Given the description of an element on the screen output the (x, y) to click on. 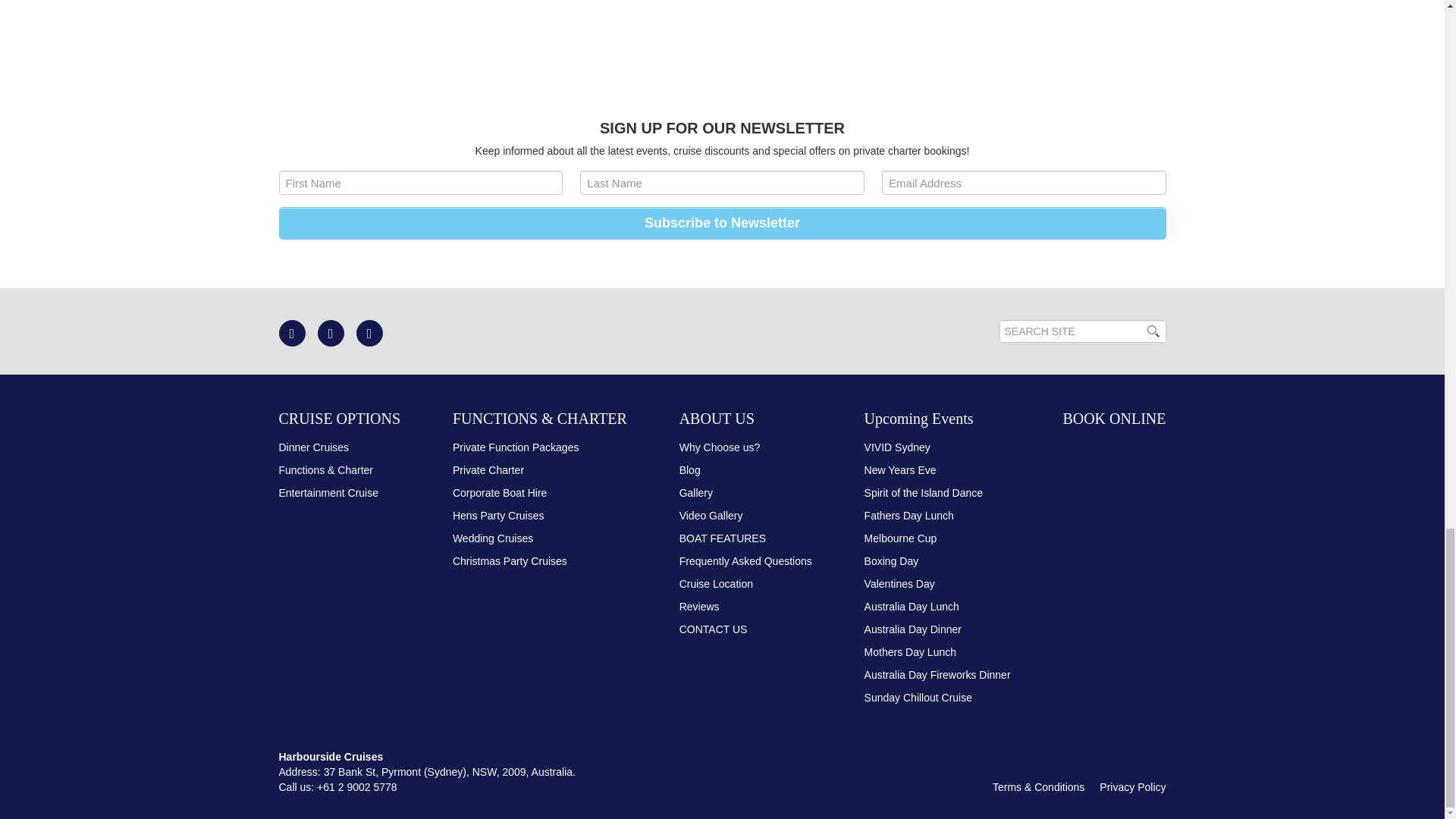
Subscribe to Newsletter (722, 223)
